Given the description of an element on the screen output the (x, y) to click on. 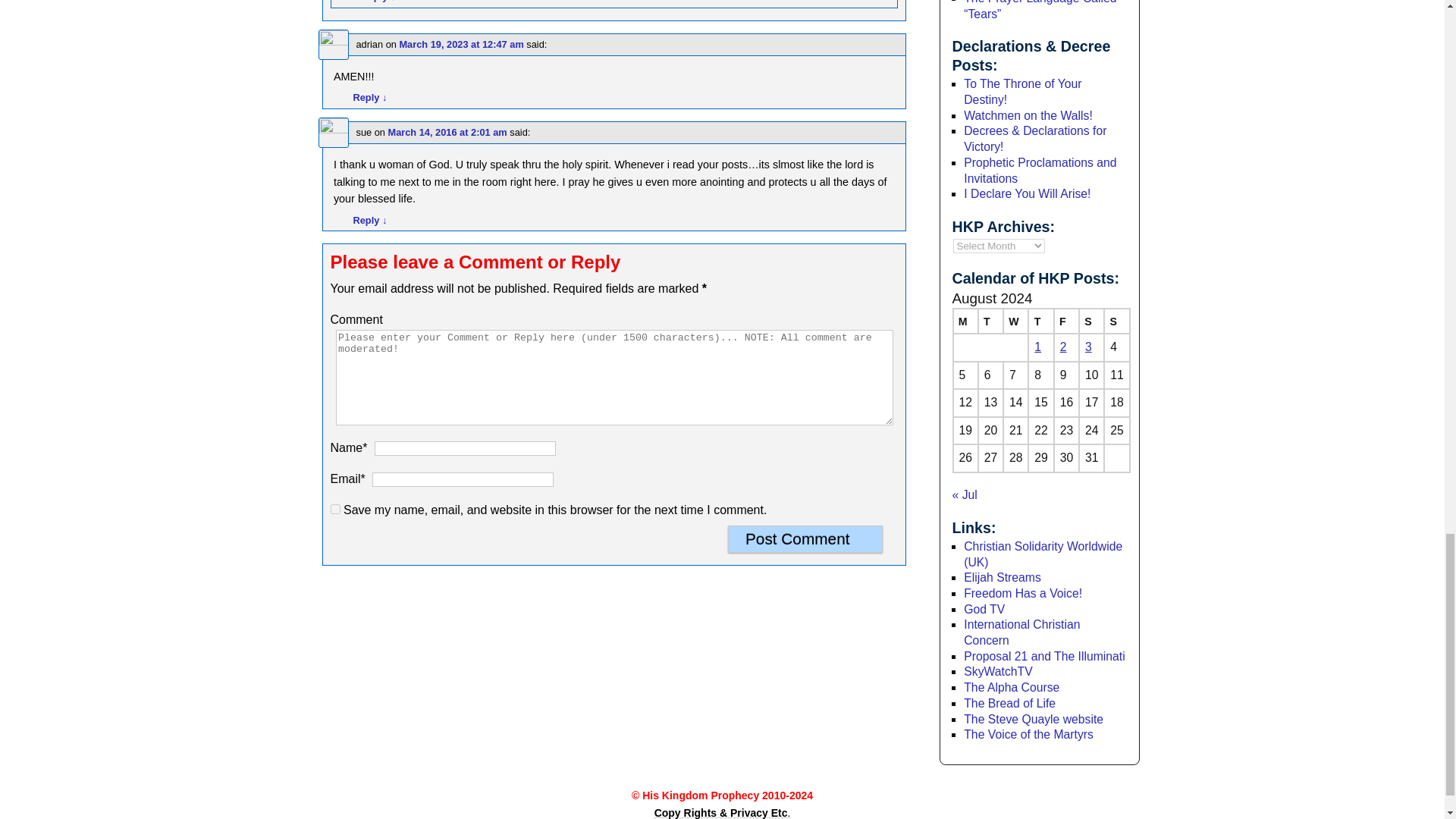
Friday (1066, 320)
Post Comment (805, 538)
Wednesday (1015, 320)
Thursday (1039, 320)
Monday (964, 320)
Tuesday (990, 320)
yes (335, 509)
Saturday (1090, 320)
